Given the description of an element on the screen output the (x, y) to click on. 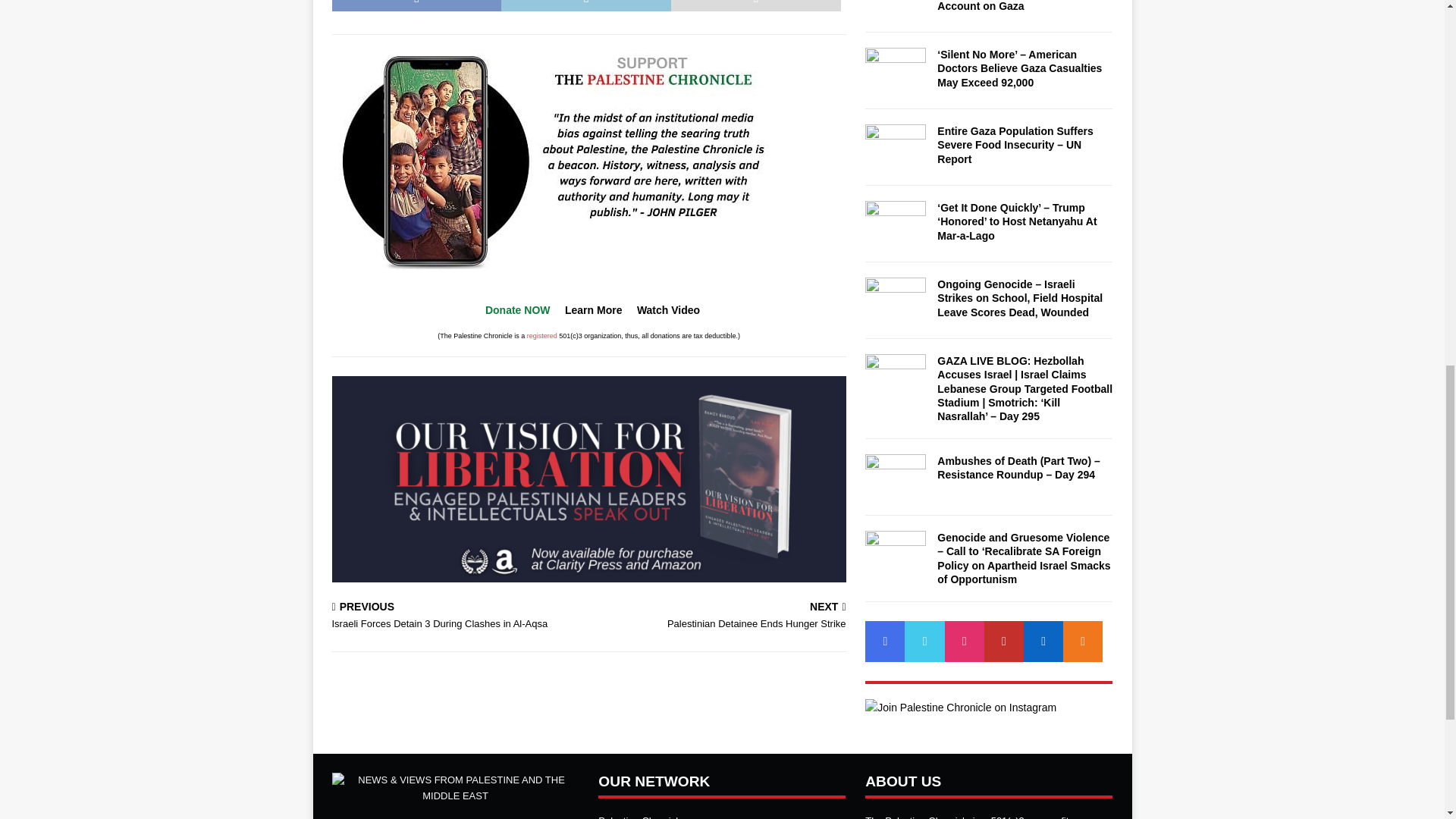
Watch Video (668, 309)
Donate NOW (720, 616)
registered (517, 309)
Learn More (542, 335)
